Given the description of an element on the screen output the (x, y) to click on. 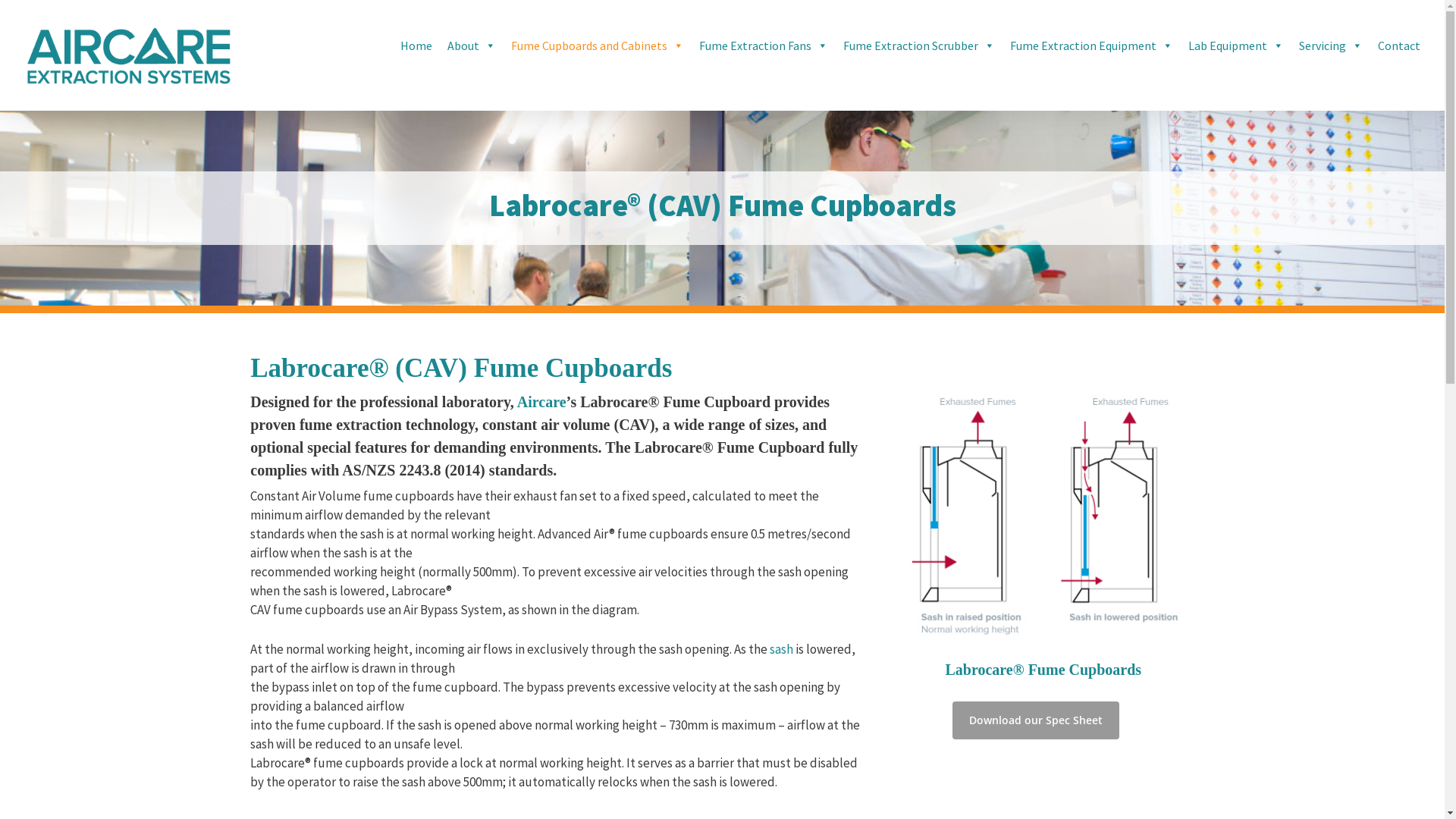
Lab Equipment Element type: text (1235, 45)
Contact Element type: text (1398, 45)
sash Element type: text (781, 648)
Aircare Element type: text (541, 401)
Home Element type: text (415, 45)
Fume Extraction Equipment Element type: text (1091, 45)
Fume Cupboards and Cabinets Element type: text (597, 45)
Download our Spec Sheet Element type: text (1035, 720)
About Element type: text (471, 45)
Fume Extraction Scrubber Element type: text (918, 45)
Servicing Element type: text (1330, 45)
Fume Extraction Fans Element type: text (763, 45)
